Given the description of an element on the screen output the (x, y) to click on. 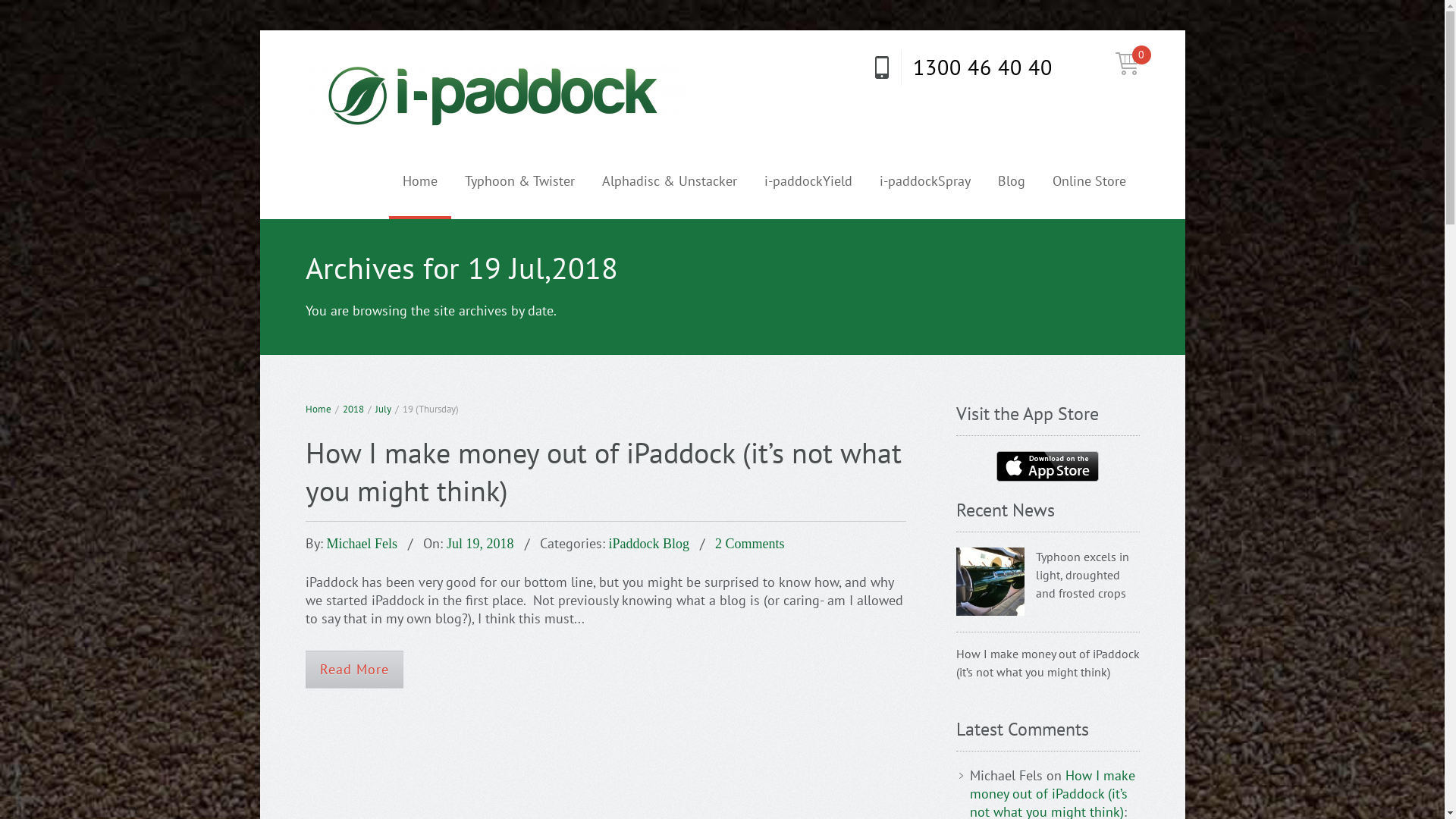
i-paddockYield Element type: text (808, 181)
Michael Fels Element type: text (361, 543)
1300 46 40 40 Element type: text (962, 67)
Alphadisc & Unstacker Element type: text (669, 181)
July Element type: text (382, 408)
Blog Element type: text (1011, 181)
i-paddockSpray Element type: text (925, 181)
i-paddock - Farm Management Apps and Machinery Element type: hover (494, 98)
Jul 19, 2018 Element type: text (480, 543)
Typhoon excels in light, droughted and frosted crops Element type: text (1082, 574)
iPaddock Blog Element type: text (648, 543)
Read More Element type: text (353, 669)
Home Element type: text (317, 408)
2018 Element type: text (353, 408)
Typhoon & Twister Element type: text (518, 181)
Home Element type: text (419, 181)
0 Element type: text (1126, 65)
Typhoon excels in light, droughted and frosted crops Element type: hover (989, 581)
Online Store Element type: text (1088, 181)
Visit the App Store Element type: hover (1047, 466)
2 Comments Element type: text (749, 543)
